Given the description of an element on the screen output the (x, y) to click on. 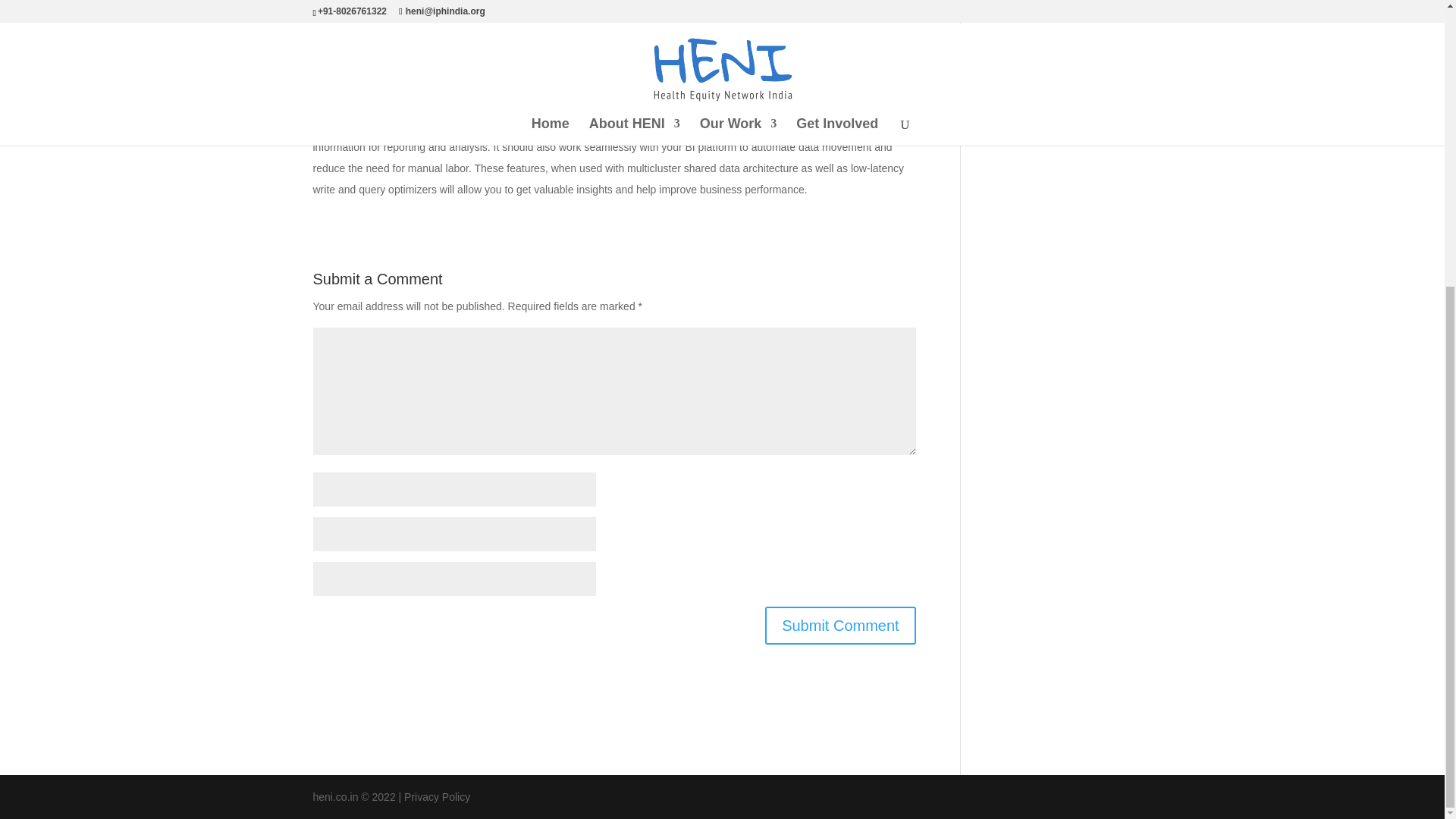
Further Readings (1024, 15)
Recent updates (1021, 115)
Submit Comment (840, 625)
review (447, 30)
Submit Comment (840, 625)
General Discussion (1029, 41)
